Given the description of an element on the screen output the (x, y) to click on. 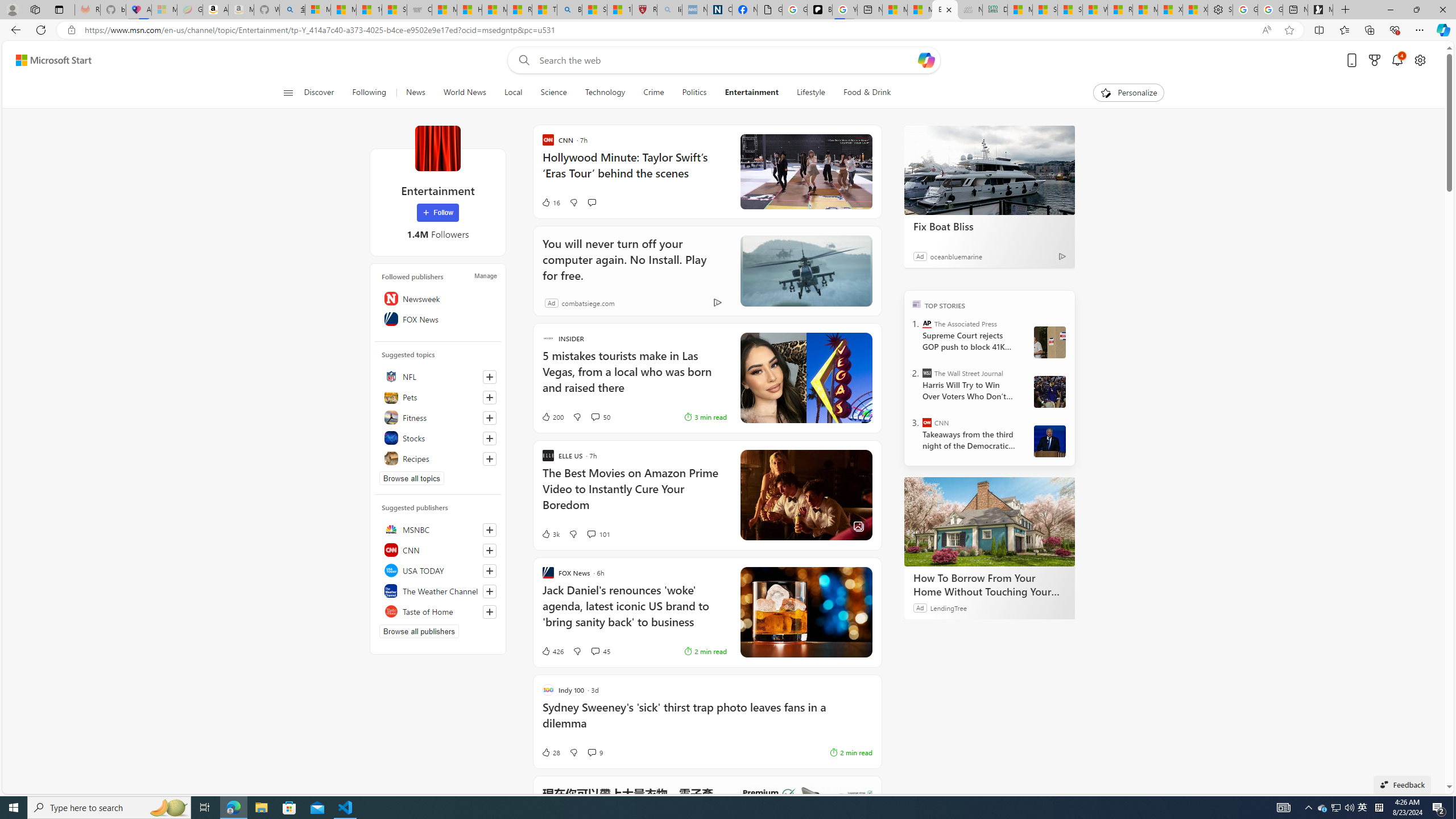
Class: hero-image (805, 171)
Fix Boat Bliss (989, 169)
How I Got Rid of Microsoft Edge's Unnecessary Features (469, 9)
Food & Drink (862, 92)
426 Like (551, 650)
Science (553, 92)
Science (553, 92)
Newsweek (437, 298)
The Weather Channel (437, 590)
